Given the description of an element on the screen output the (x, y) to click on. 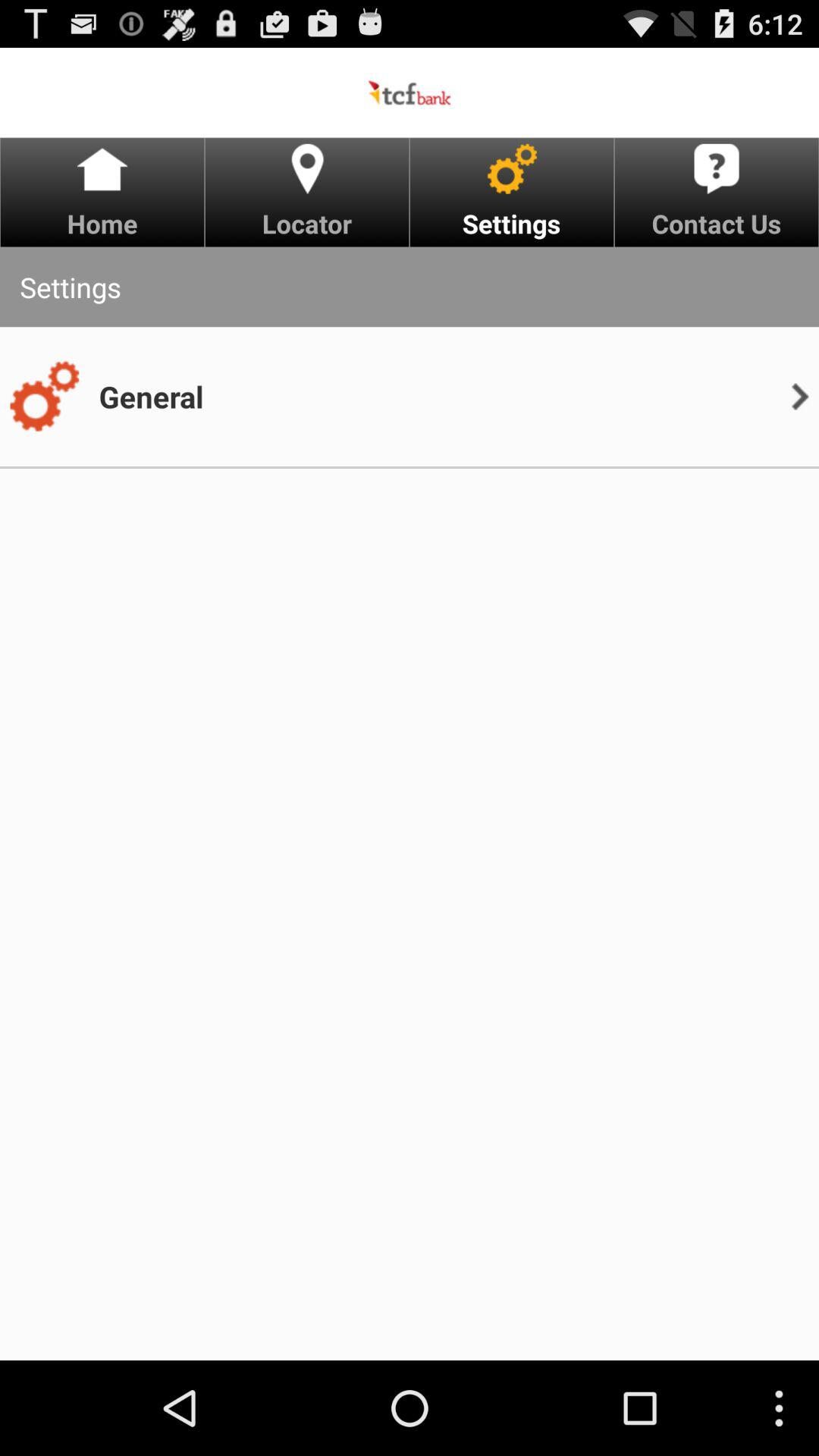
tap icon to the right of the general item (799, 396)
